Given the description of an element on the screen output the (x, y) to click on. 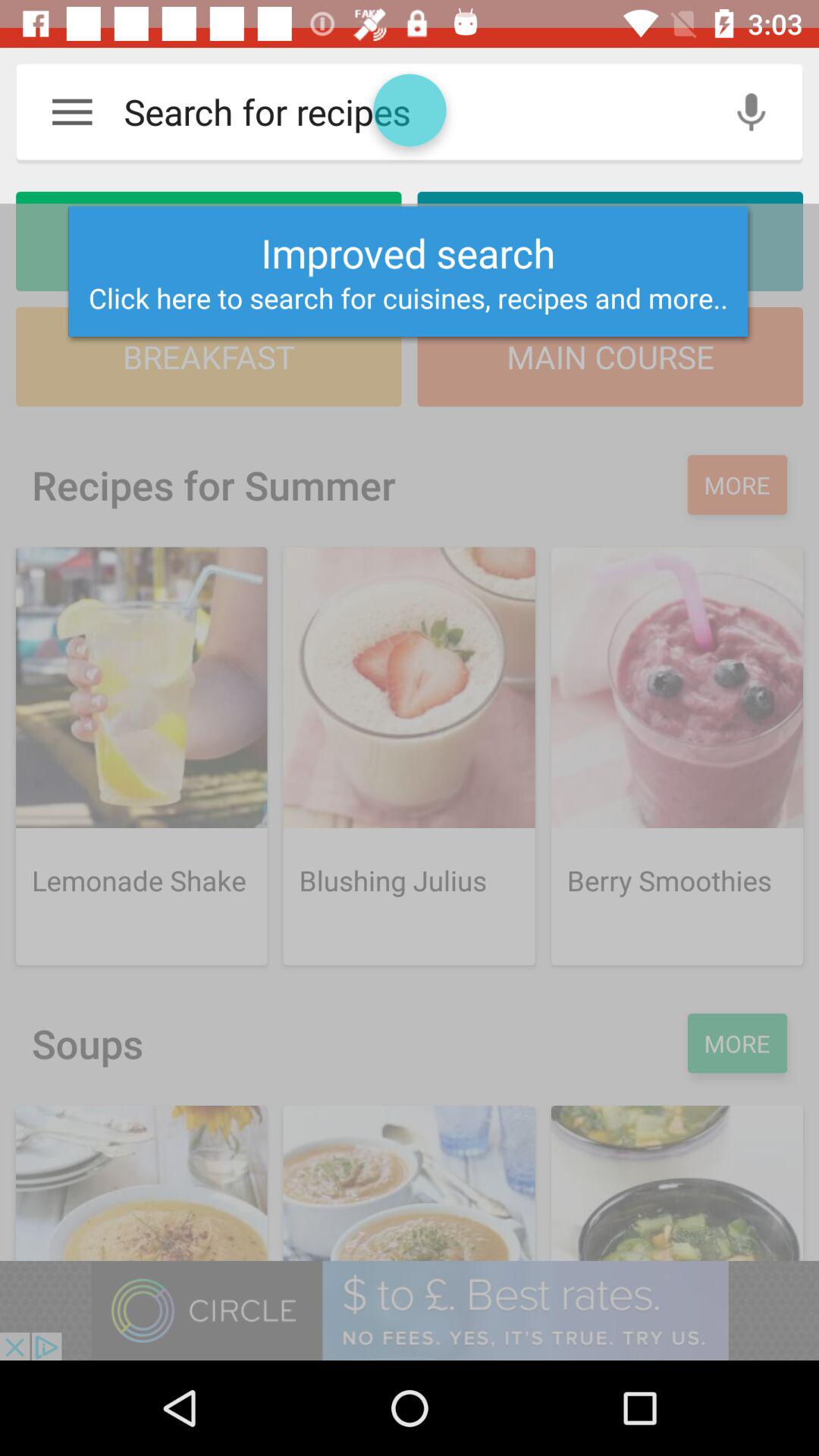
click on the green colored more button icon (737, 1043)
click on image above the text lemonade shake (141, 687)
